Given the description of an element on the screen output the (x, y) to click on. 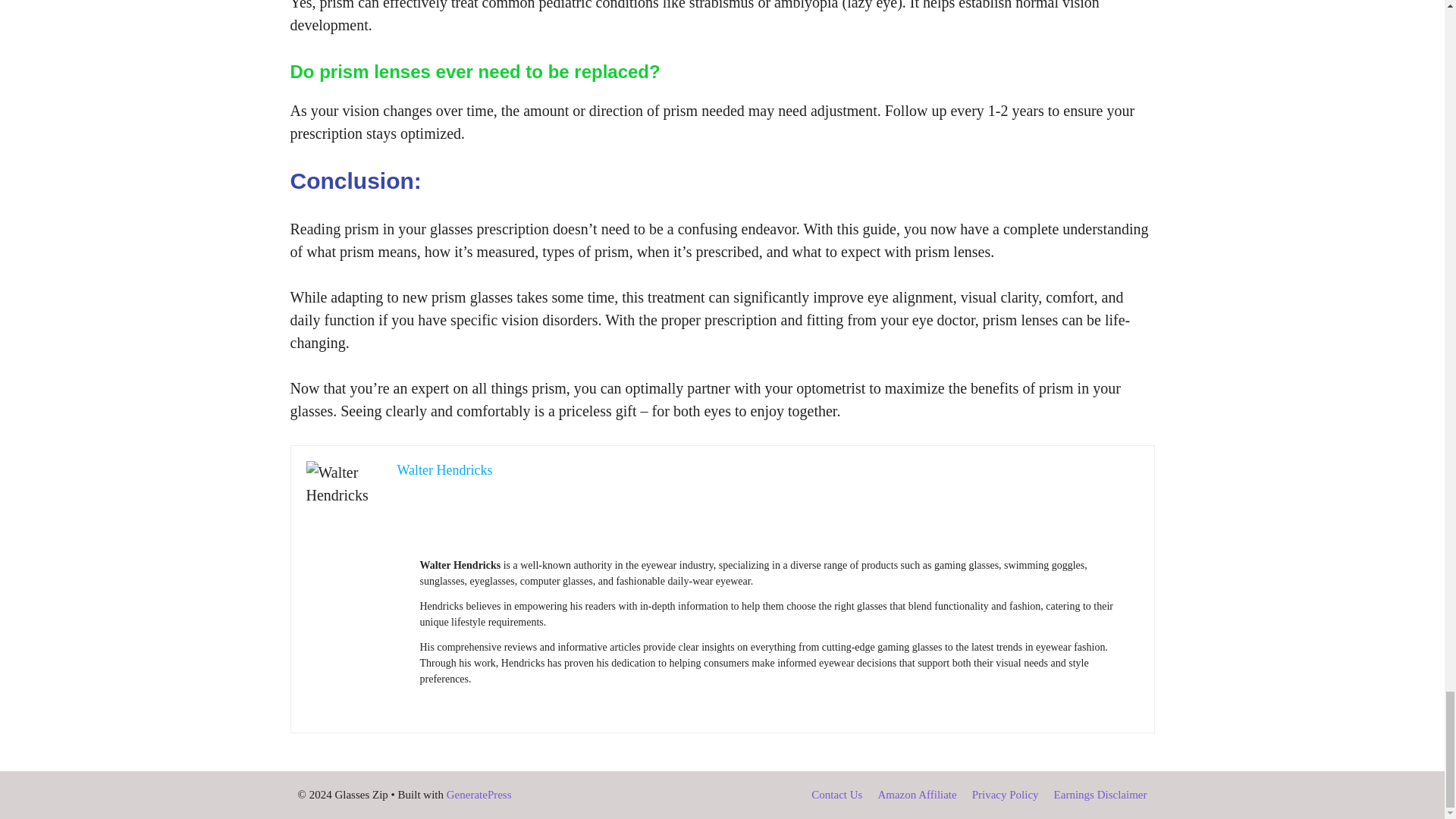
Amazon Affiliate (916, 794)
Earnings Disclaimer (1100, 794)
GeneratePress (479, 794)
Privacy Policy (1005, 794)
Contact Us (835, 794)
Walter Hendricks (445, 469)
